Given the description of an element on the screen output the (x, y) to click on. 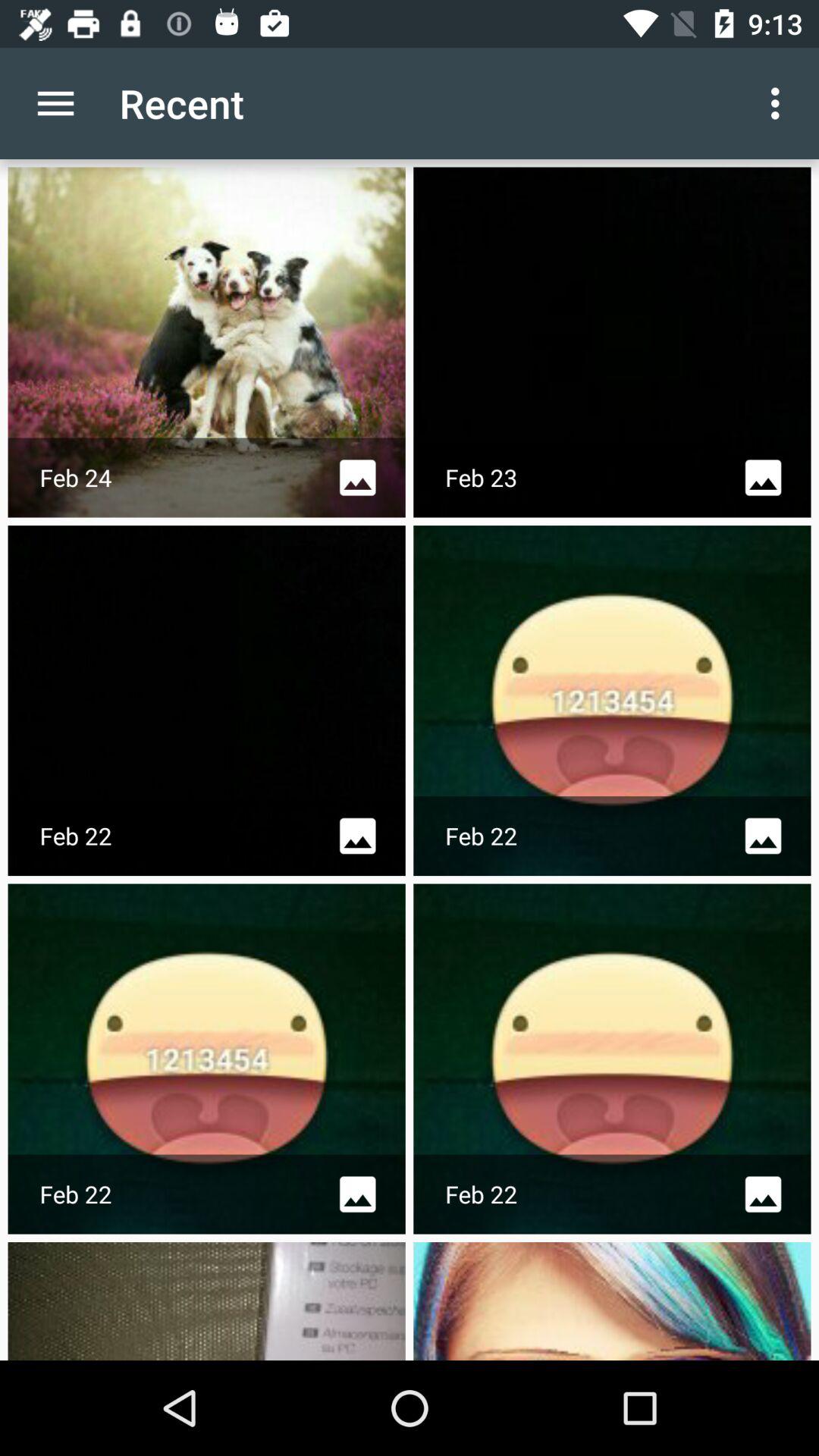
click app to the right of the recent icon (779, 103)
